Given the description of an element on the screen output the (x, y) to click on. 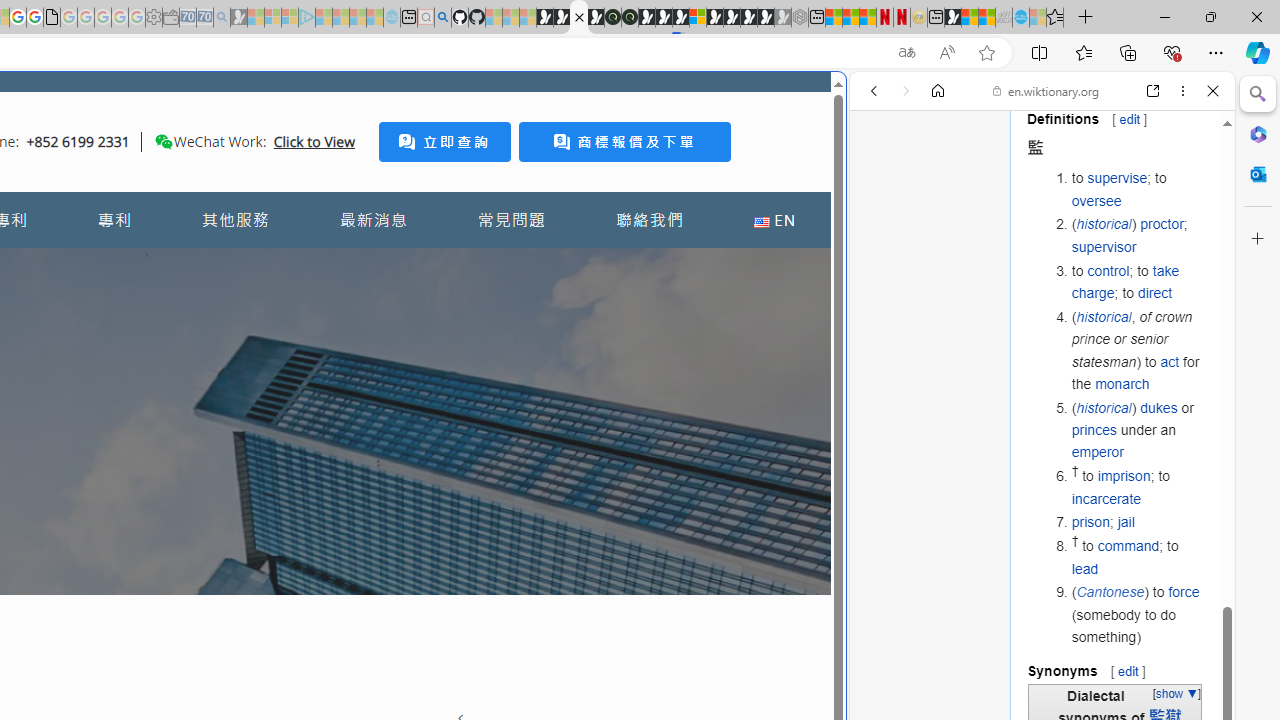
en.wiktionary.org (1046, 90)
prison (1090, 522)
historical (1103, 407)
